Given the description of an element on the screen output the (x, y) to click on. 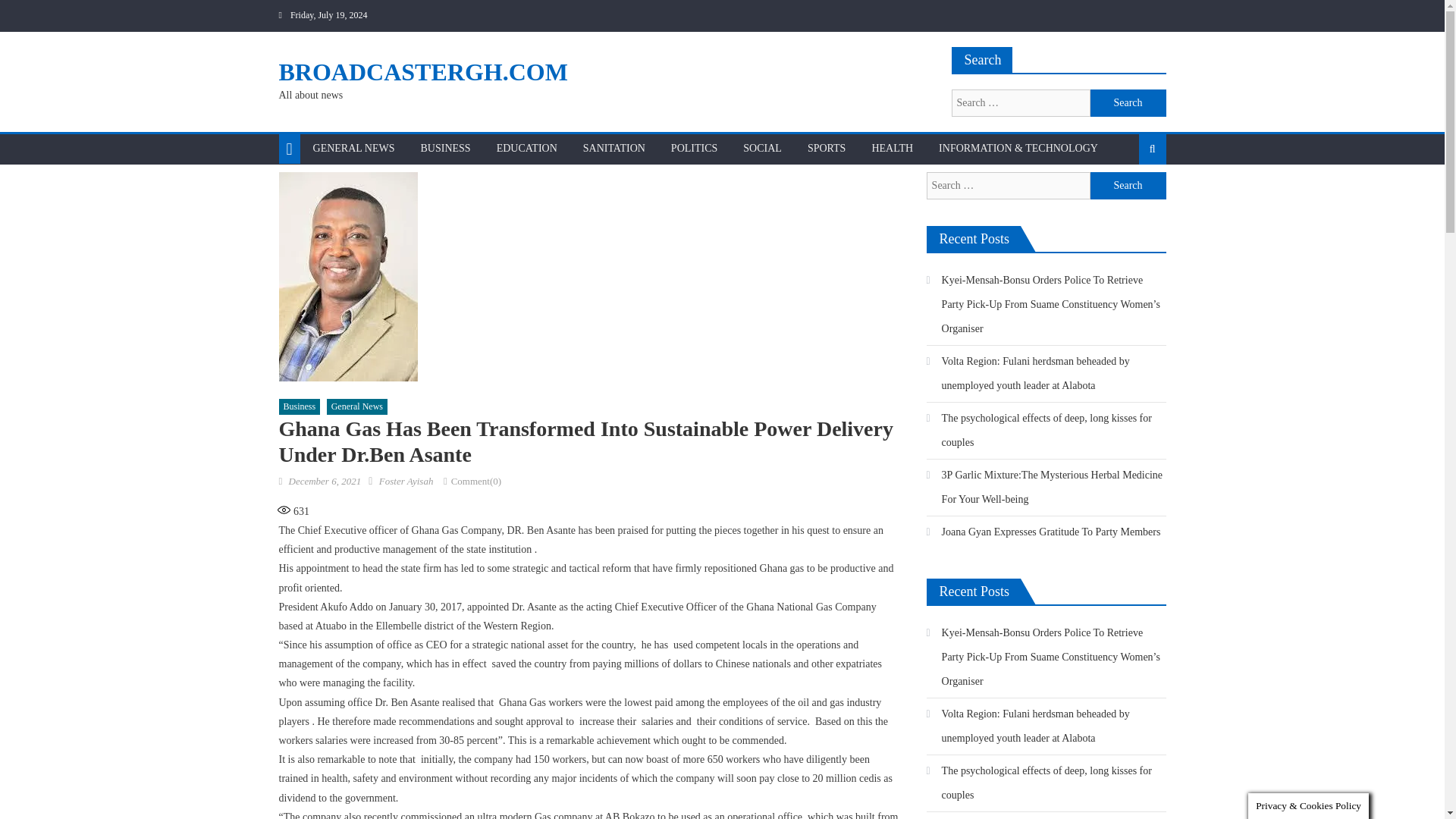
POLITICS (694, 148)
SPORTS (826, 148)
HEALTH (892, 148)
Search (1128, 185)
Business (299, 406)
Search (1128, 197)
December 6, 2021 (324, 480)
General News (356, 406)
Search (1128, 185)
Foster Ayisah (405, 480)
Search (1128, 103)
Search (1128, 103)
BROADCASTERGH.COM (423, 71)
Search (1128, 103)
SOCIAL (762, 148)
